Given the description of an element on the screen output the (x, y) to click on. 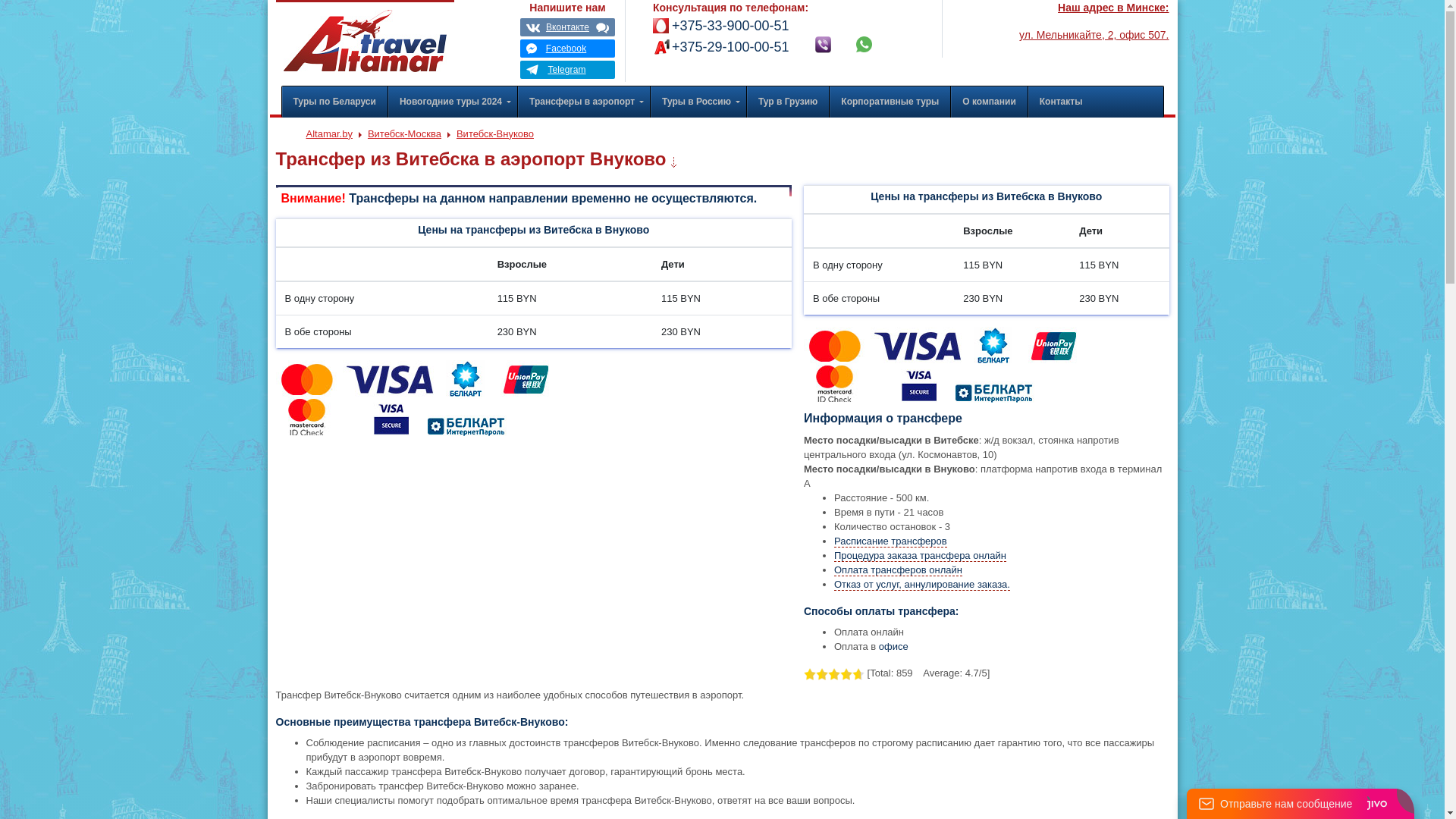
+375-29-100-00-51 Element type: text (720, 46)
Altamar.by Element type: text (329, 133)
Facebook Element type: text (567, 48)
+375-33-900-00-51 Element type: text (720, 25)
Telegram Element type: text (567, 69)
